Given the description of an element on the screen output the (x, y) to click on. 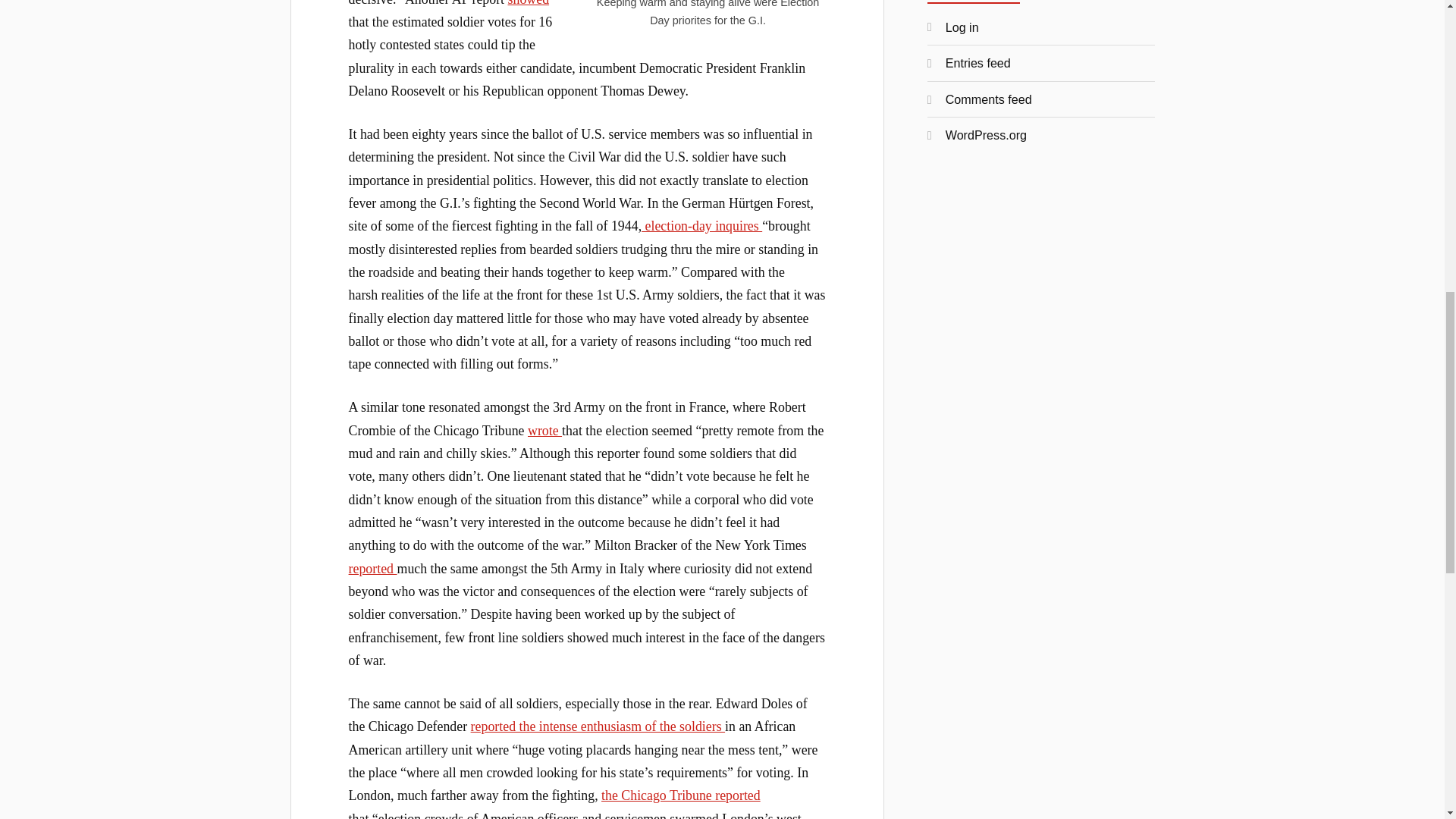
showed (529, 3)
wrote (544, 430)
election-day inquires (701, 225)
reported the intense enthusiasm of the soldiers (597, 726)
reported (373, 568)
the Chicago Tribune reported (680, 795)
